Given the description of an element on the screen output the (x, y) to click on. 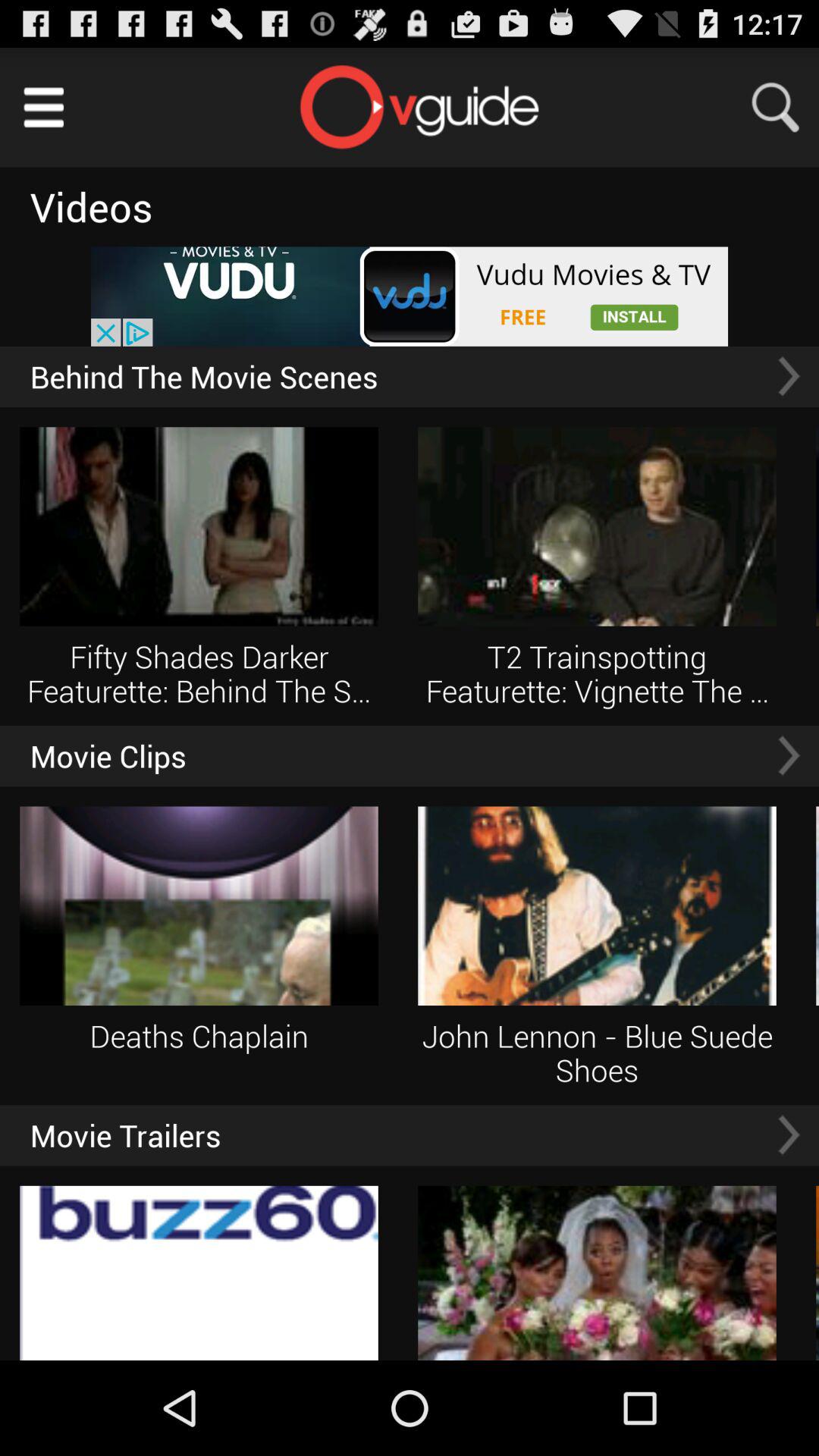
select options (43, 107)
